Given the description of an element on the screen output the (x, y) to click on. 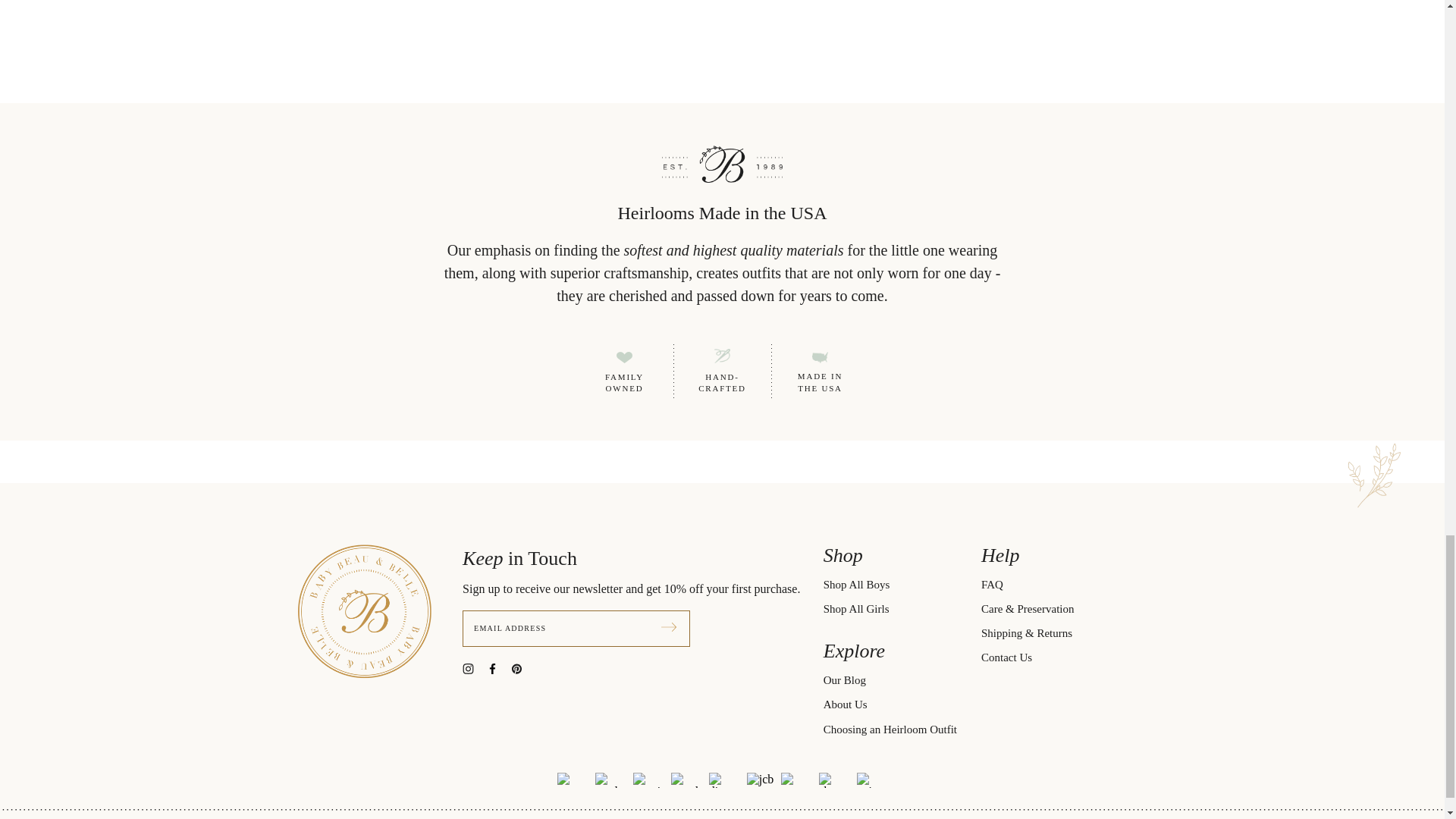
arrow icon (669, 626)
Baby Beau and Belle on Facebook (498, 667)
Baby Beau and Belle on Instagram (474, 667)
